Given the description of an element on the screen output the (x, y) to click on. 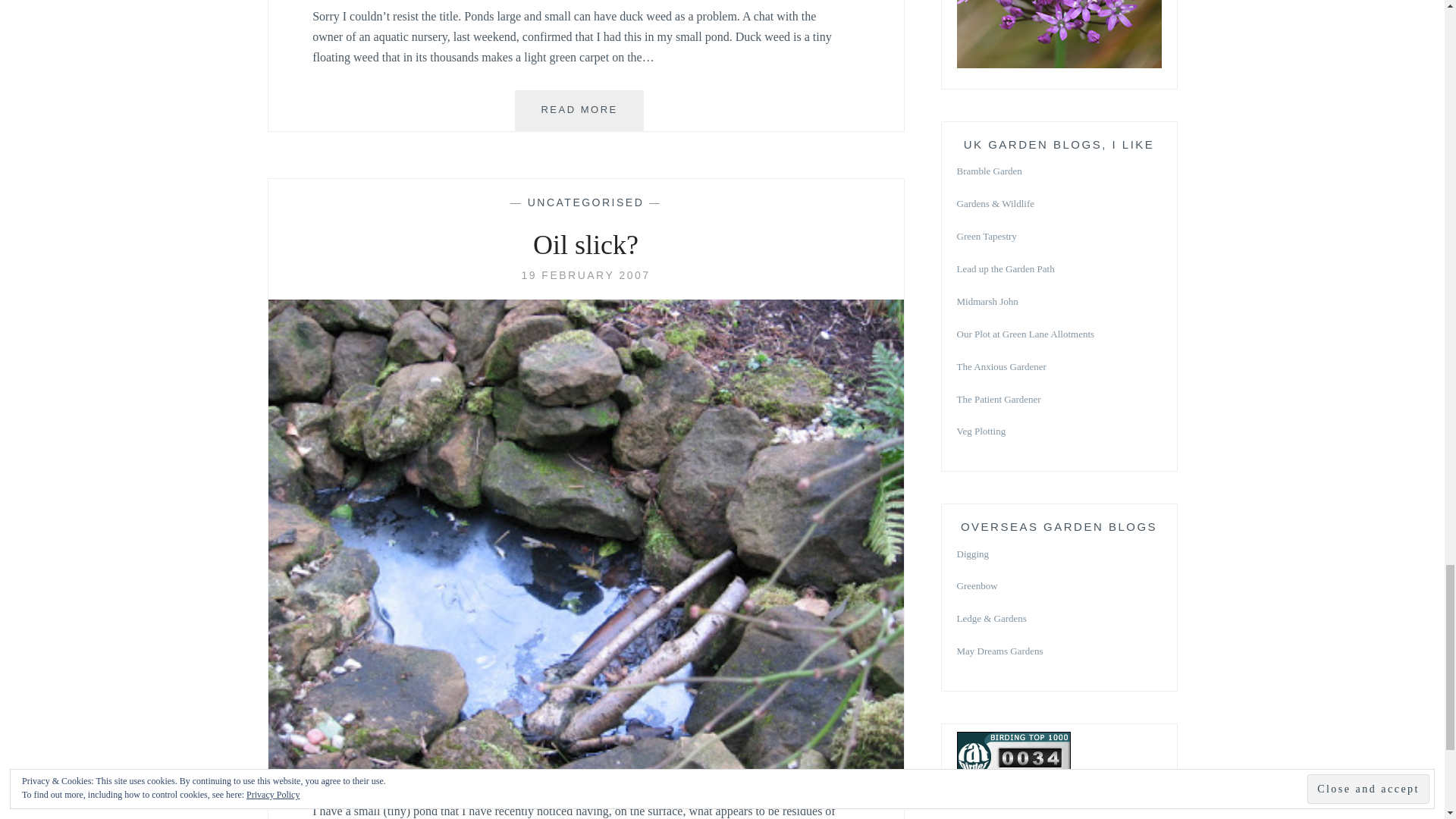
UNCATEGORISED (586, 202)
Oil slick? (585, 275)
Oil slick? (585, 246)
Oil slick? (585, 771)
19 FEBRUARY 2007 (585, 275)
